Given the description of an element on the screen output the (x, y) to click on. 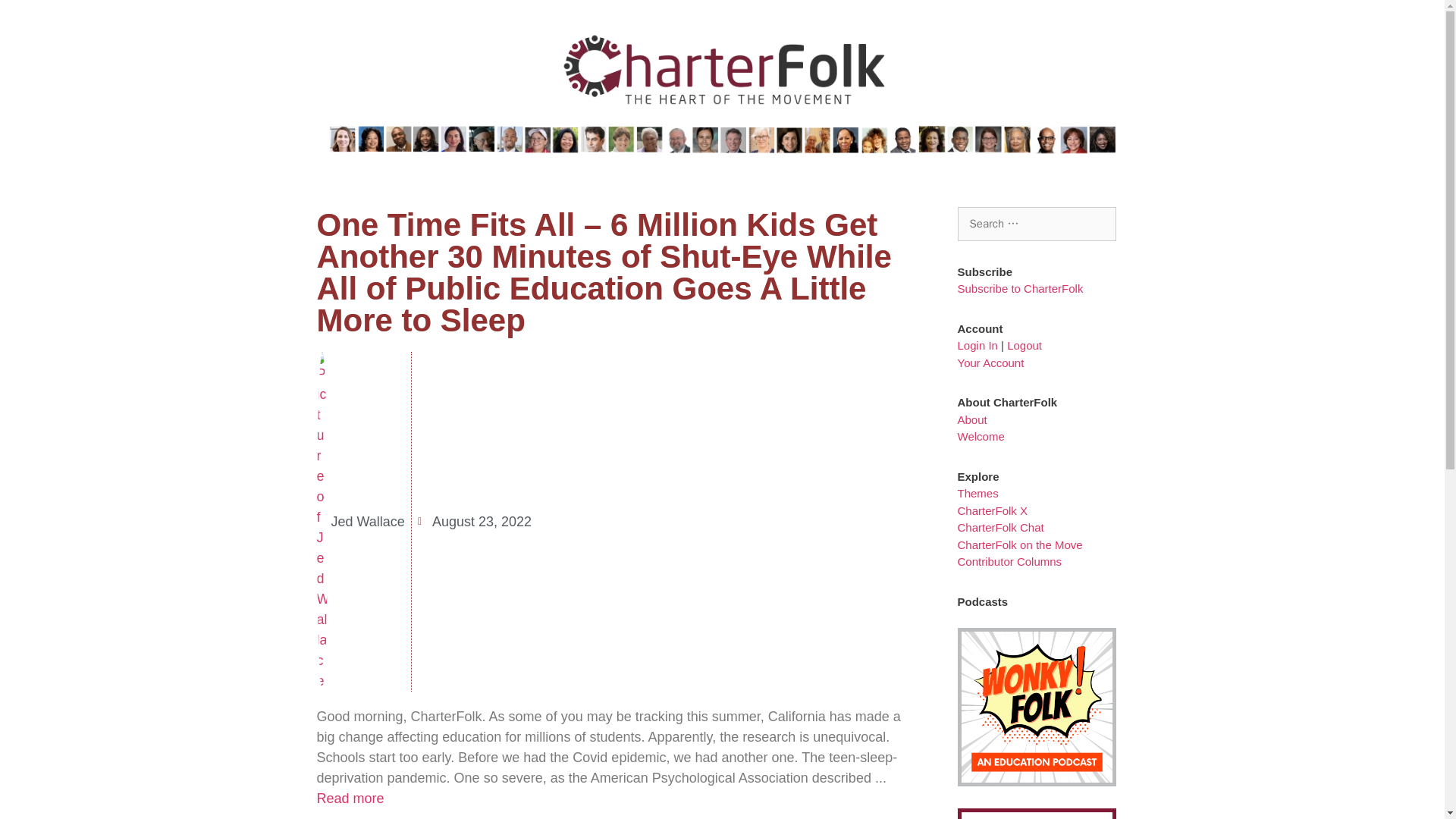
Welcome (981, 436)
Contributor Columns (1010, 561)
Read more (350, 798)
CharterFolk on the Move (1020, 544)
Logout (1024, 345)
Search for: (1037, 223)
CharterFolk Chat (1000, 526)
Subscribe to CharterFolk (1020, 287)
About (972, 419)
Your Account (991, 362)
Login In (977, 345)
Themes (978, 492)
Search (33, 17)
CharterFolk X (992, 510)
